Given the description of an element on the screen output the (x, y) to click on. 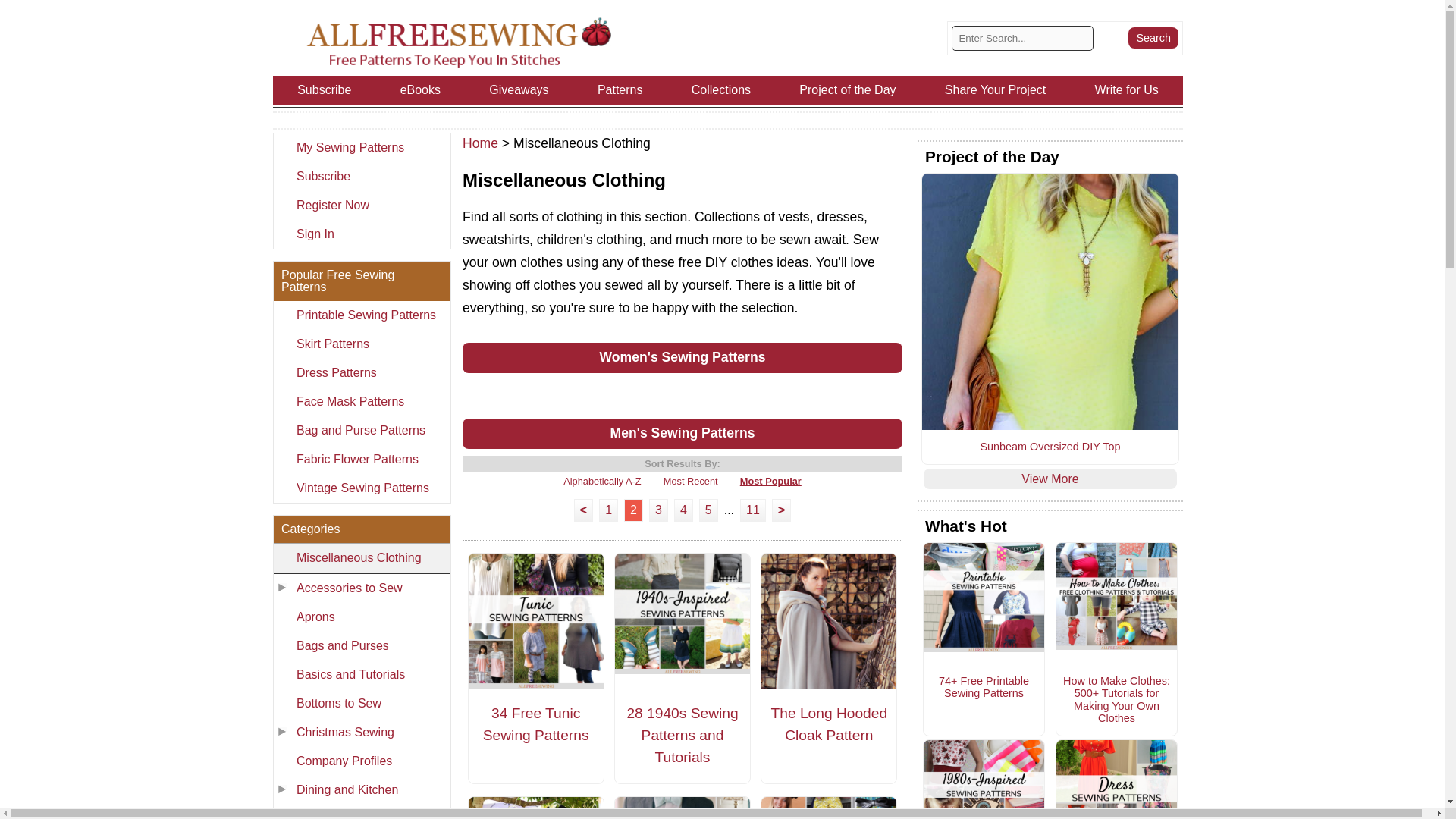
Go to Page 3 (658, 509)
Search (1152, 37)
Register Now (361, 205)
Go to Previous Page (582, 509)
Subscribe (361, 176)
Go to Next Page (780, 509)
Sign In (361, 234)
Go to Last Page (752, 509)
Go to Page 4 (683, 509)
Go to Page 1 (608, 509)
